Given the description of an element on the screen output the (x, y) to click on. 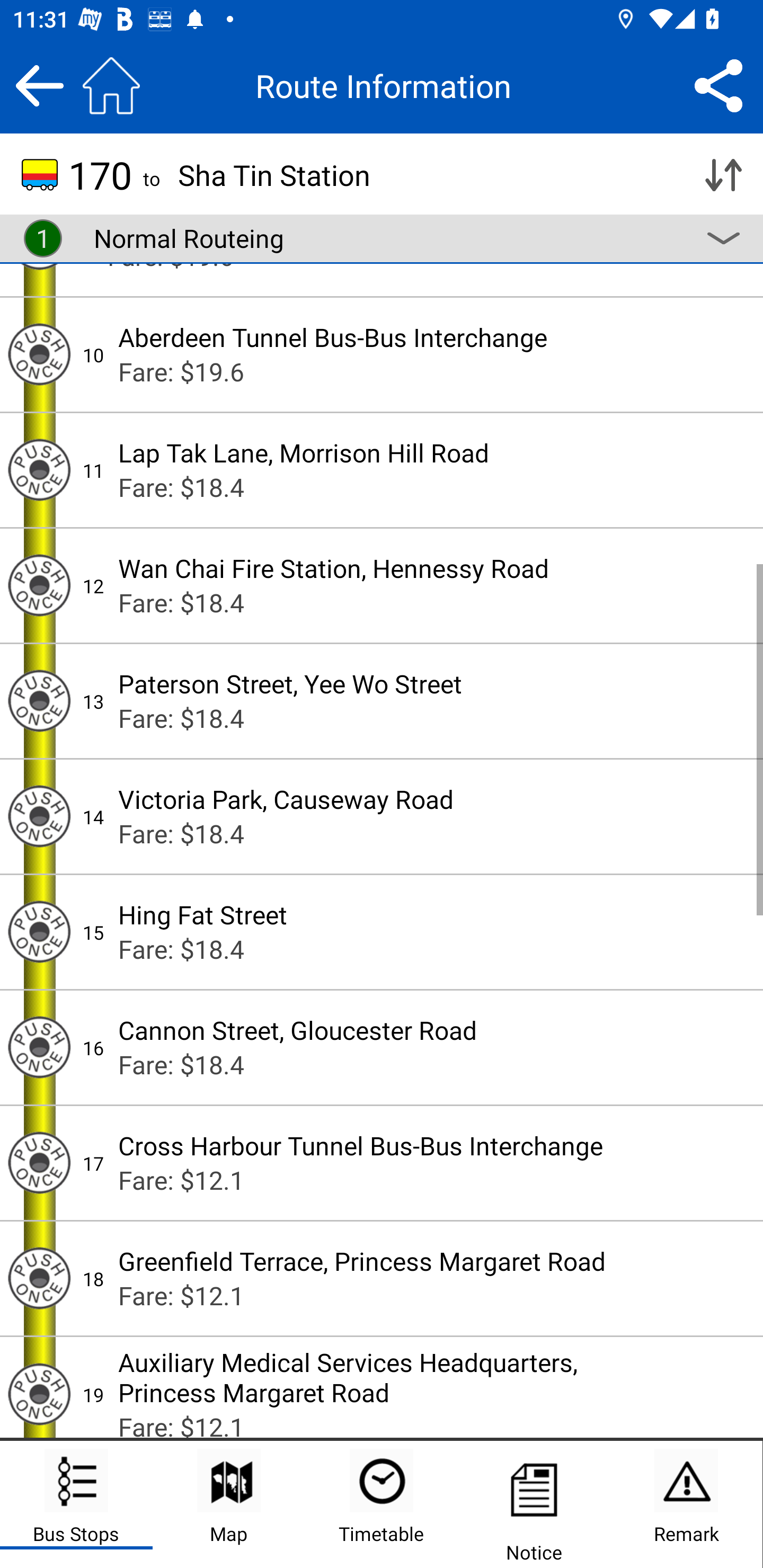
Jump to home page (111, 85)
Share point to point route search criteria) (718, 85)
Back (39, 85)
Reverse direction (723, 174)
Other routes (723, 238)
Alight Reminder (39, 354)
Alight Reminder (39, 469)
Alight Reminder (39, 585)
Alight Reminder (39, 700)
Alight Reminder (39, 816)
Alight Reminder (39, 932)
Alight Reminder (39, 1047)
Alight Reminder (39, 1162)
Alight Reminder (39, 1278)
Alight Reminder (39, 1394)
Bus Stops (76, 1504)
Map (228, 1504)
Timetable (381, 1504)
Notice (533, 1504)
Remark (686, 1504)
